Given the description of an element on the screen output the (x, y) to click on. 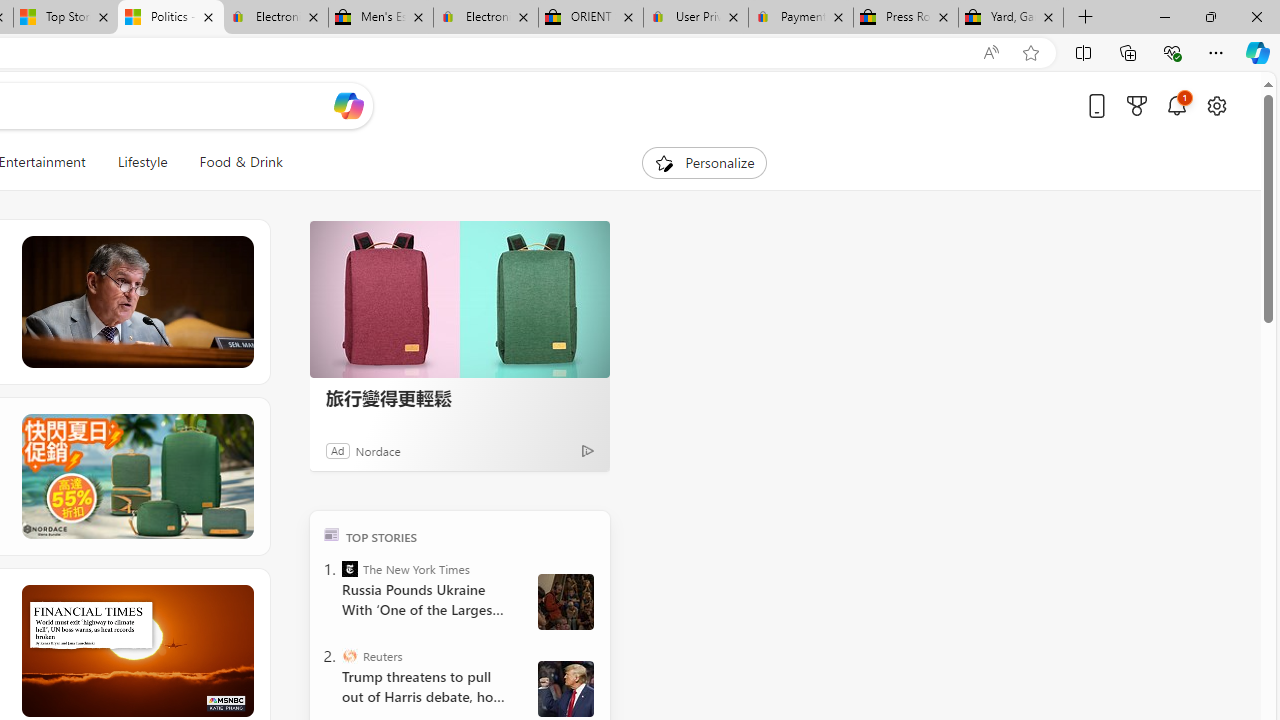
Politics - MSN (170, 17)
